Given the description of an element on the screen output the (x, y) to click on. 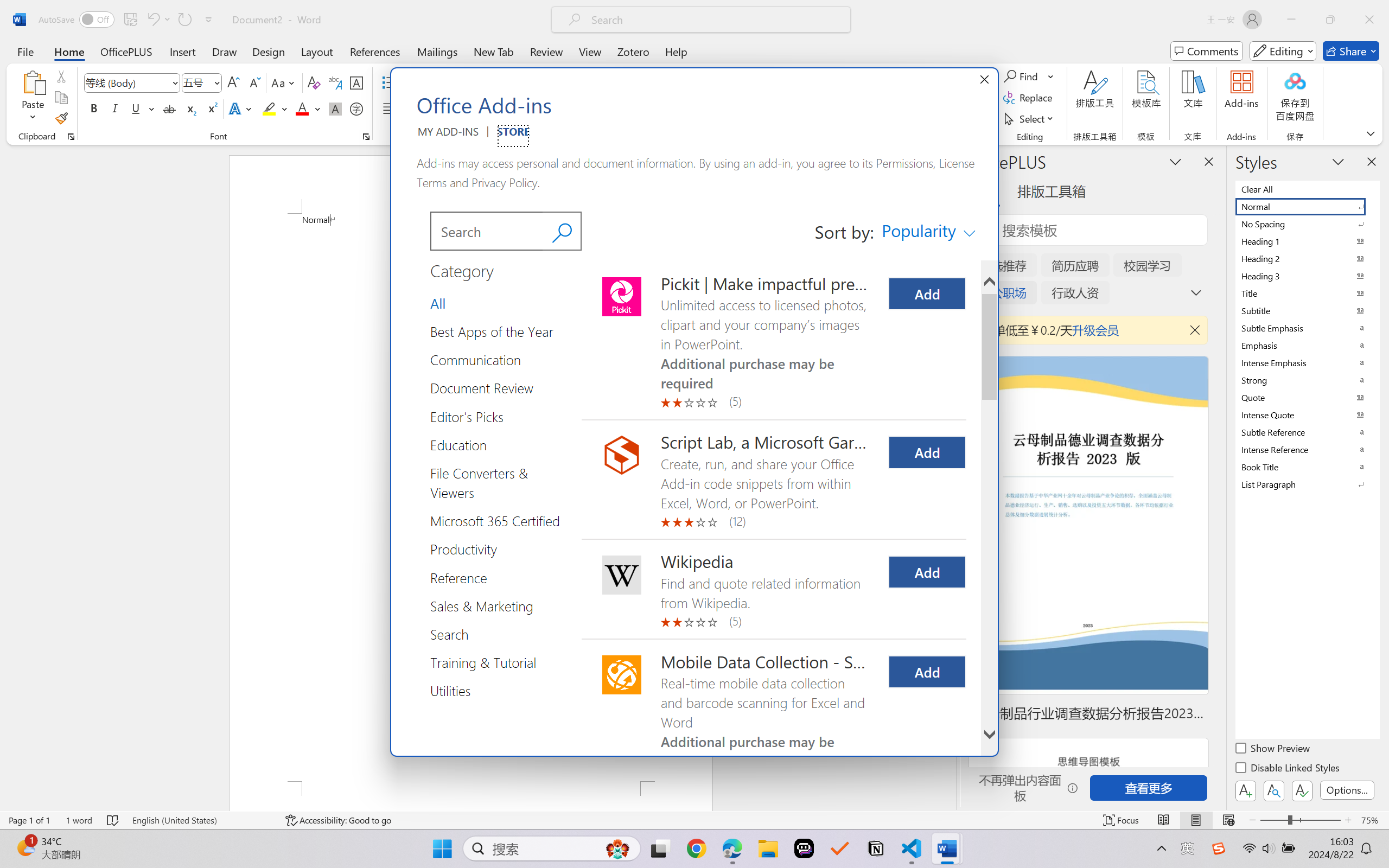
Text Highlight Color Yellow (269, 108)
STORE (513, 135)
Print Layout (1196, 819)
Pickit | Make impactful presentations in minutes icon (621, 295)
Quick Access Toolbar (127, 19)
Font... (365, 136)
AutoSave (76, 19)
Intense Emphasis (1306, 362)
Font (132, 82)
List Paragraph (1306, 484)
Customize Quick Access Toolbar (208, 19)
Share (1350, 51)
